Given the description of an element on the screen output the (x, y) to click on. 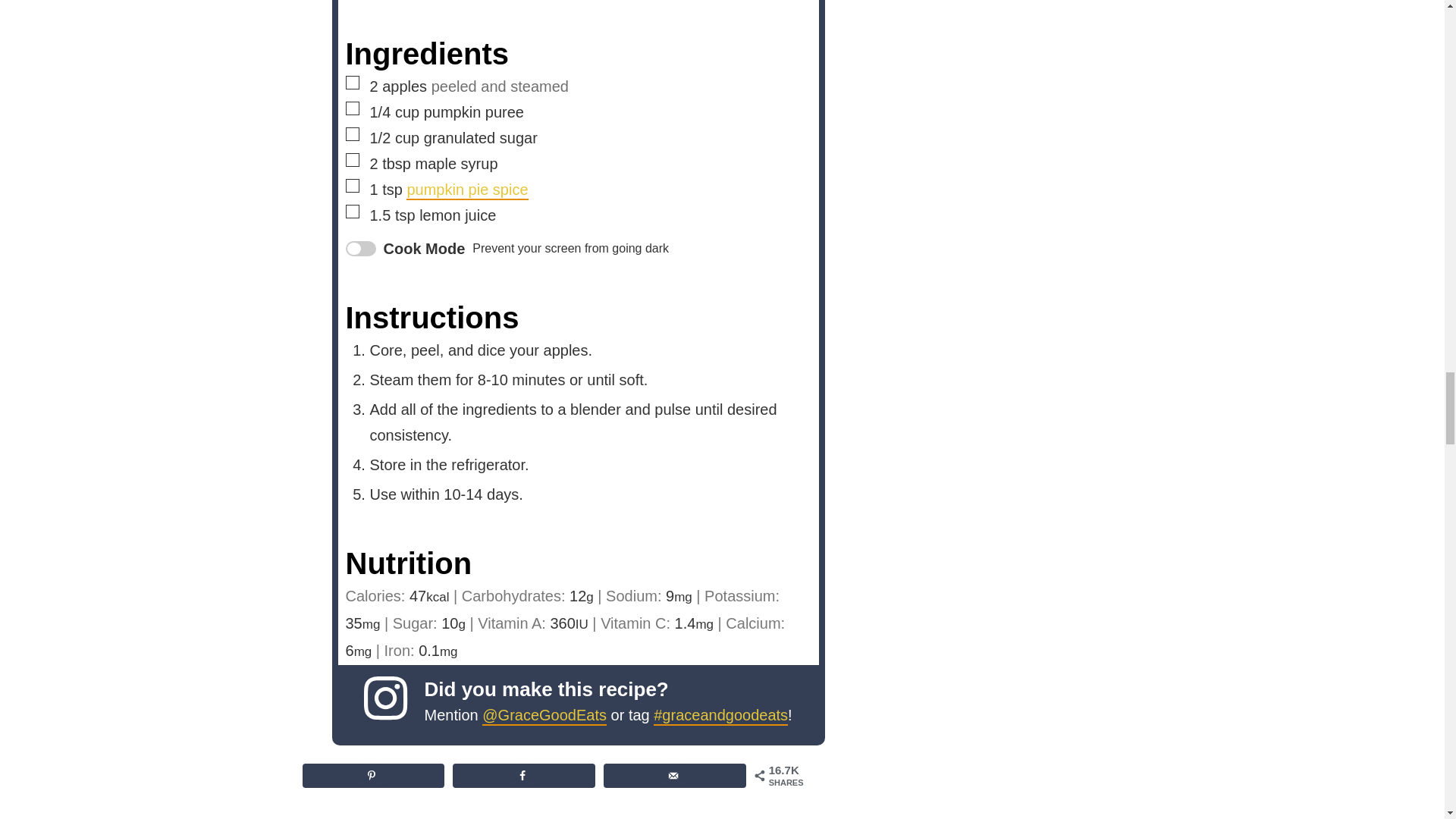
Share on Facebook (523, 775)
Save to Pinterest (372, 775)
pumpkin pie spice (466, 189)
Send over email (674, 775)
